Given the description of an element on the screen output the (x, y) to click on. 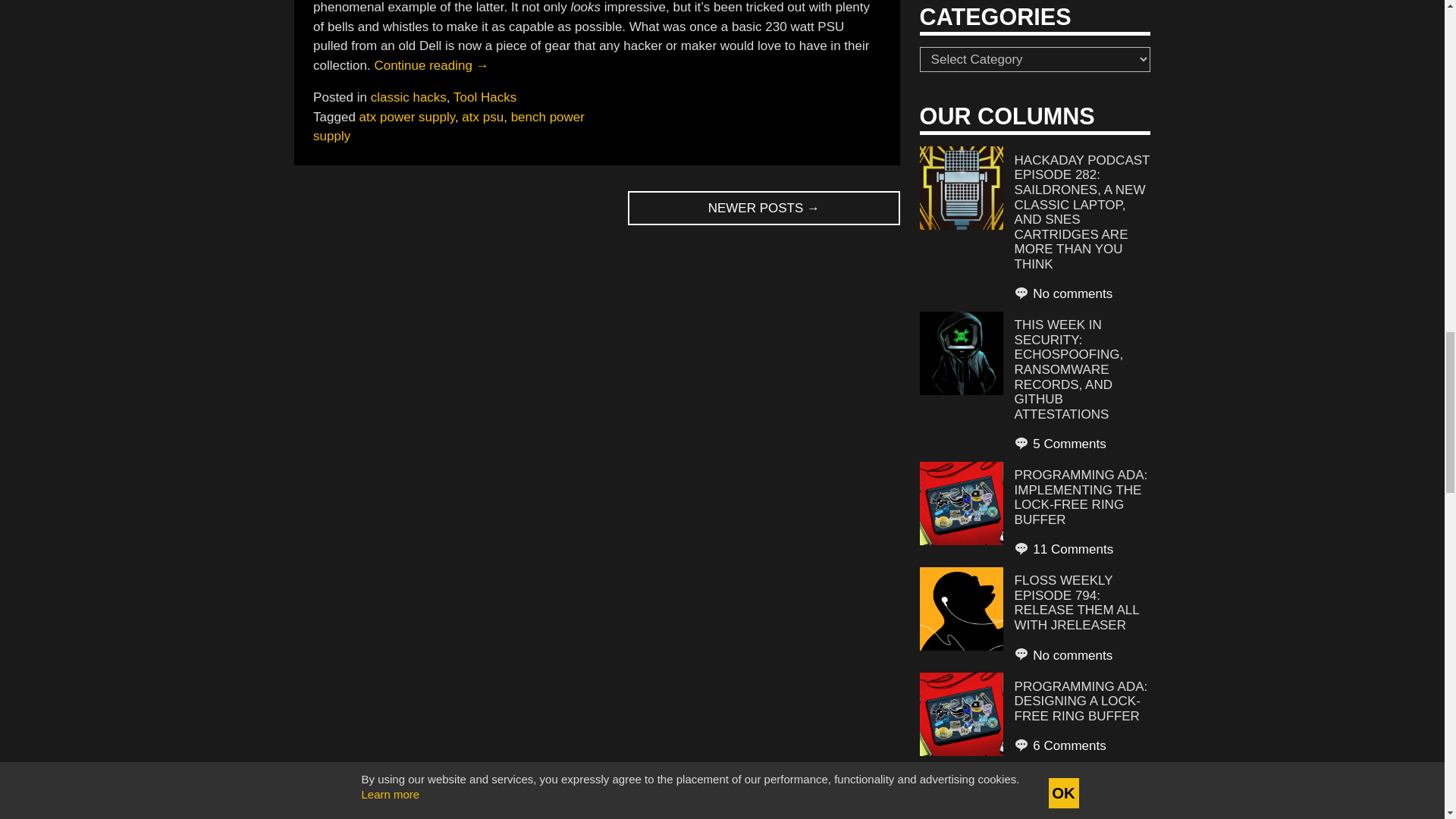
classic hacks (408, 97)
